Given the description of an element on the screen output the (x, y) to click on. 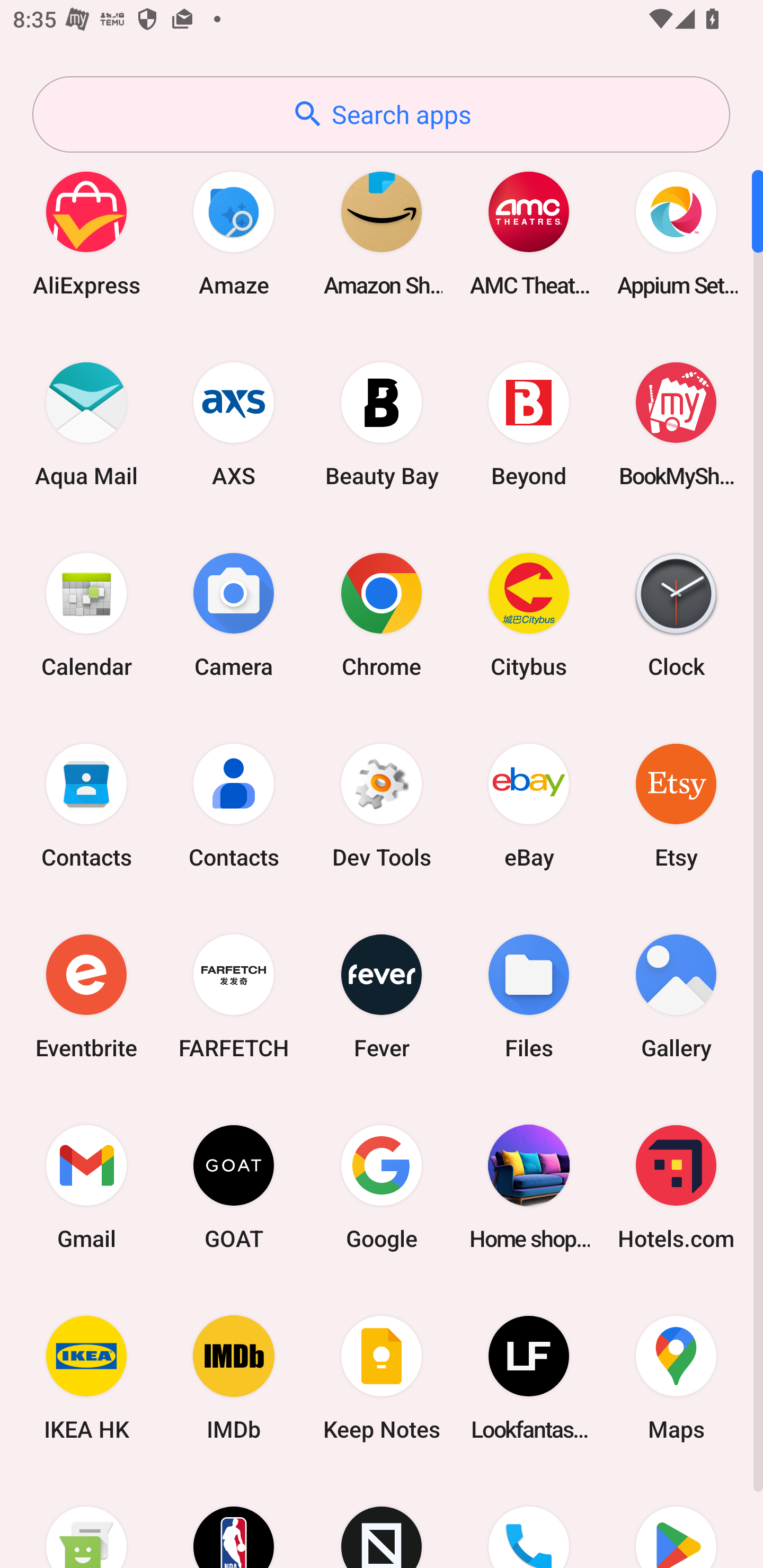
  Search apps (381, 114)
AliExpress (86, 233)
Amaze (233, 233)
Amazon Shopping (381, 233)
AMC Theatres (528, 233)
Appium Settings (676, 233)
Aqua Mail (86, 424)
AXS (233, 424)
Beauty Bay (381, 424)
Beyond (528, 424)
BookMyShow (676, 424)
Calendar (86, 614)
Camera (233, 614)
Chrome (381, 614)
Citybus (528, 614)
Clock (676, 614)
Contacts (86, 805)
Contacts (233, 805)
Dev Tools (381, 805)
eBay (528, 805)
Etsy (676, 805)
Eventbrite (86, 996)
FARFETCH (233, 996)
Fever (381, 996)
Files (528, 996)
Gallery (676, 996)
Gmail (86, 1186)
GOAT (233, 1186)
Google (381, 1186)
Home shopping (528, 1186)
Hotels.com (676, 1186)
IKEA HK (86, 1377)
IMDb (233, 1377)
Keep Notes (381, 1377)
Lookfantastic (528, 1377)
Maps (676, 1377)
Messaging (86, 1520)
NBA (233, 1520)
Novelship (381, 1520)
Phone (528, 1520)
Play Store (676, 1520)
